Given the description of an element on the screen output the (x, y) to click on. 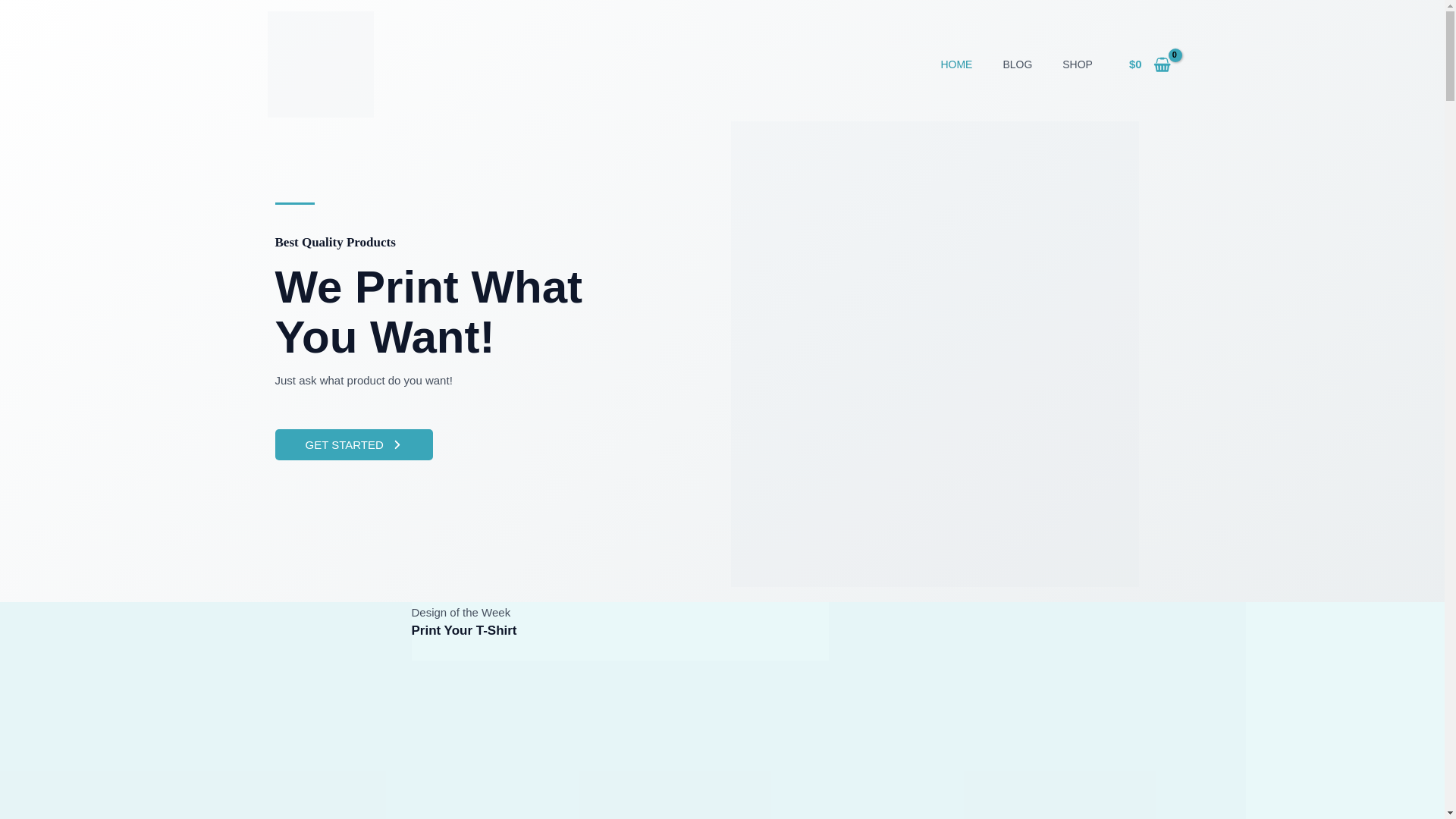
Home 2 (205, 710)
Home 4 (1036, 710)
SHOP (1077, 64)
Home 3 (619, 739)
BLOG (1016, 64)
GET STARTED (353, 444)
HOME (955, 64)
